Given the description of an element on the screen output the (x, y) to click on. 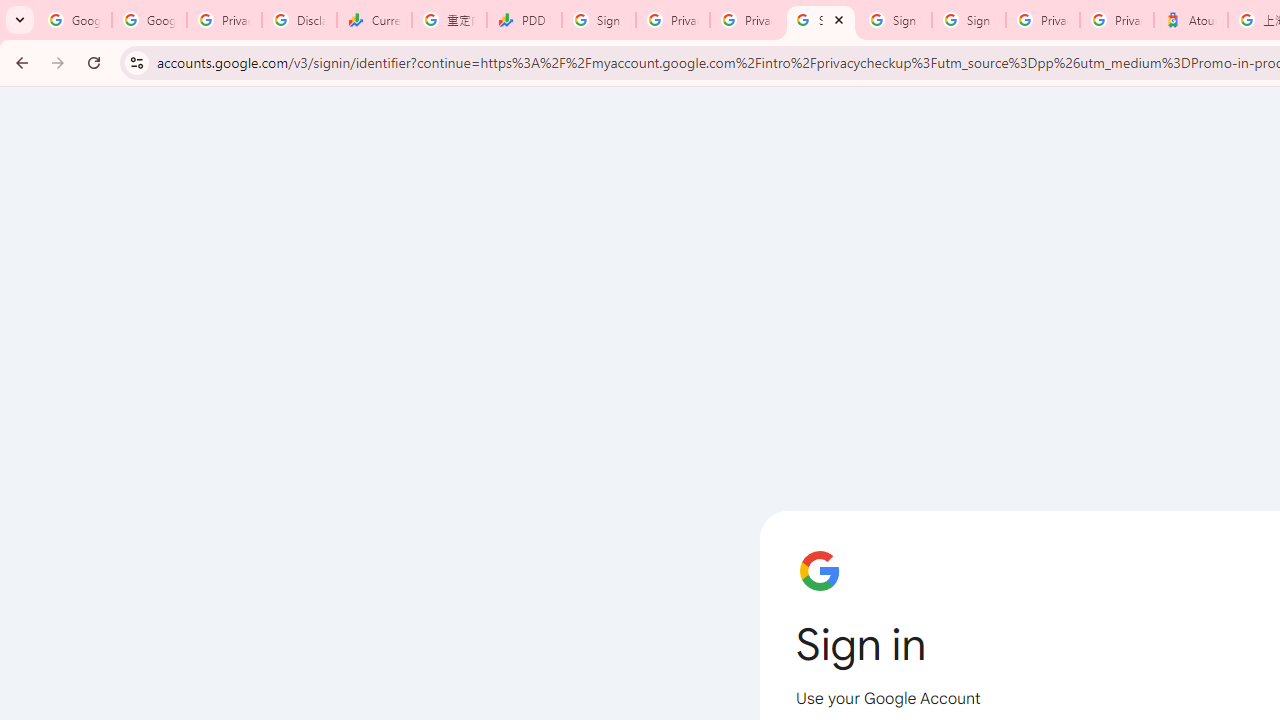
Privacy Checkup (747, 20)
Sign in - Google Accounts (598, 20)
Sign in - Google Accounts (820, 20)
Currencies - Google Finance (374, 20)
Google Workspace Admin Community (74, 20)
